Given the description of an element on the screen output the (x, y) to click on. 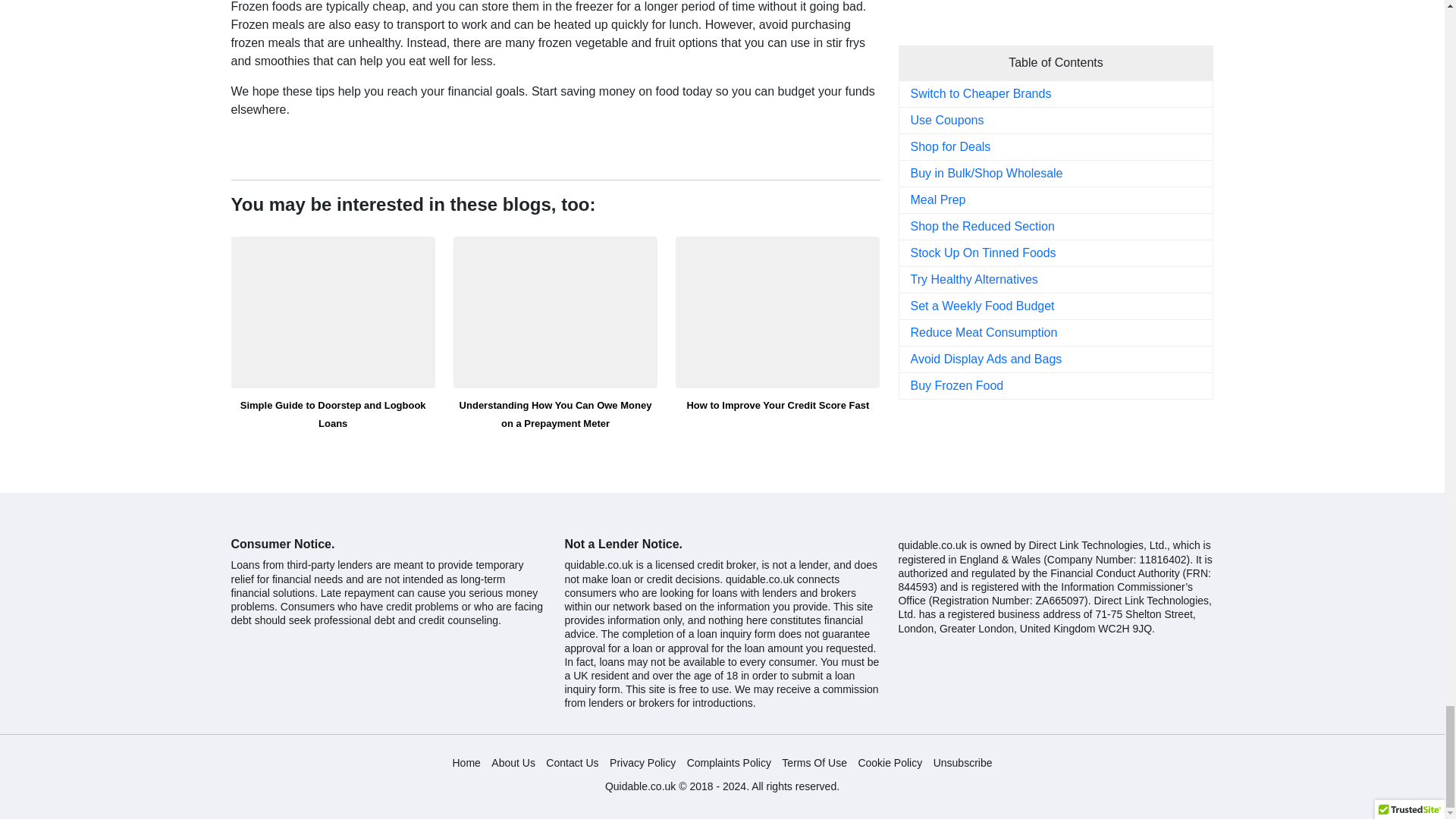
Simple Guide to Doorstep and Logbook Loans (331, 312)
Understanding How You Can Owe Money on a Prepayment Meter (555, 312)
How to Improve Your Credit Score Fast (777, 312)
